Given the description of an element on the screen output the (x, y) to click on. 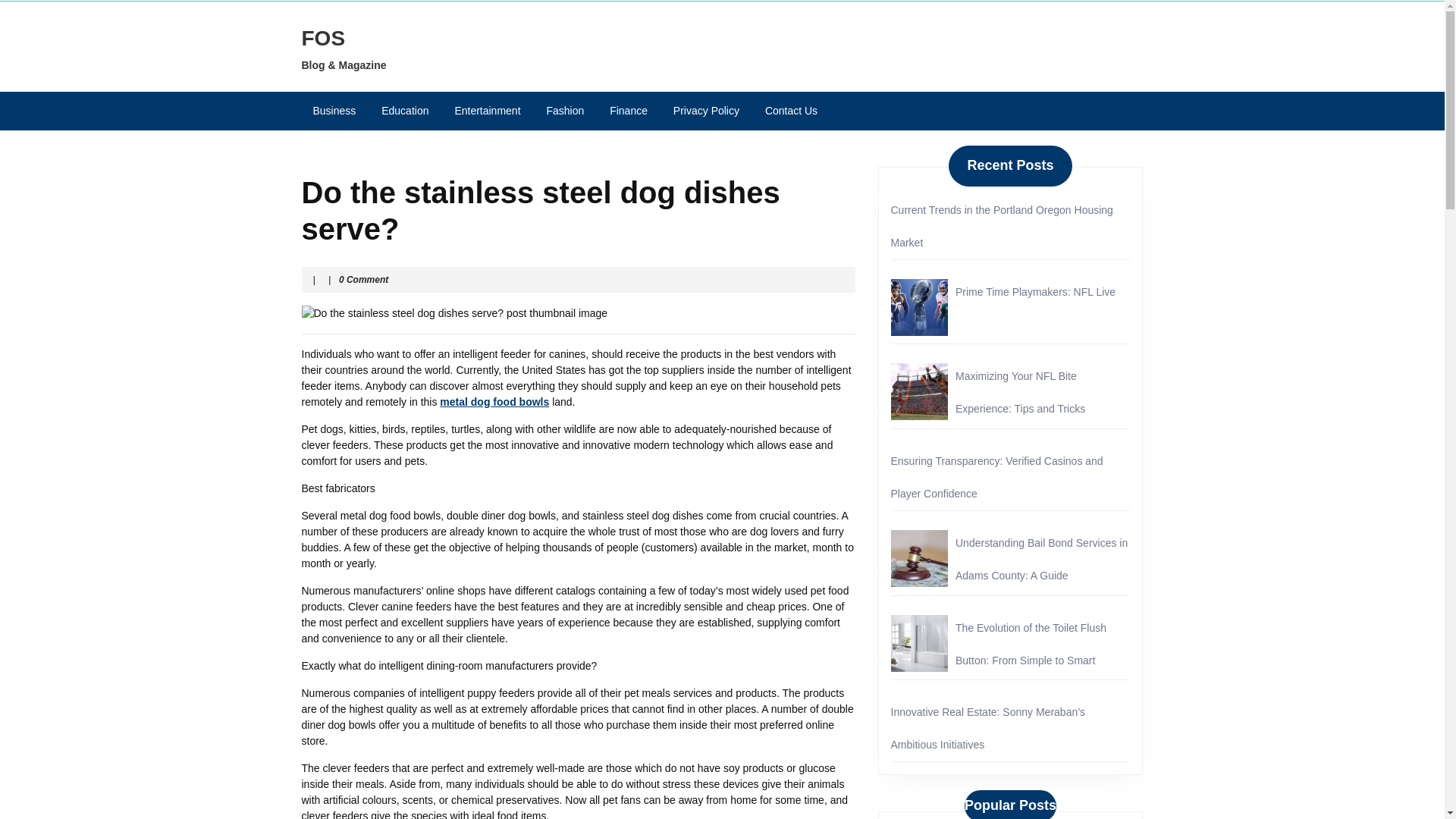
Maximizing Your NFL Bite Experience: Tips and Tricks (1019, 392)
Current Trends in the Portland Oregon Housing Market (1000, 225)
Prime Time Playmakers: NFL Live (1035, 291)
Education (404, 110)
Understanding Bail Bond Services in Adams County: A Guide (1040, 559)
Contact Us (791, 110)
Fashion (564, 110)
Entertainment (486, 110)
Business (334, 110)
Finance (628, 110)
metal dog food bowls (493, 401)
FOS (323, 37)
Privacy Policy (706, 110)
